Given the description of an element on the screen output the (x, y) to click on. 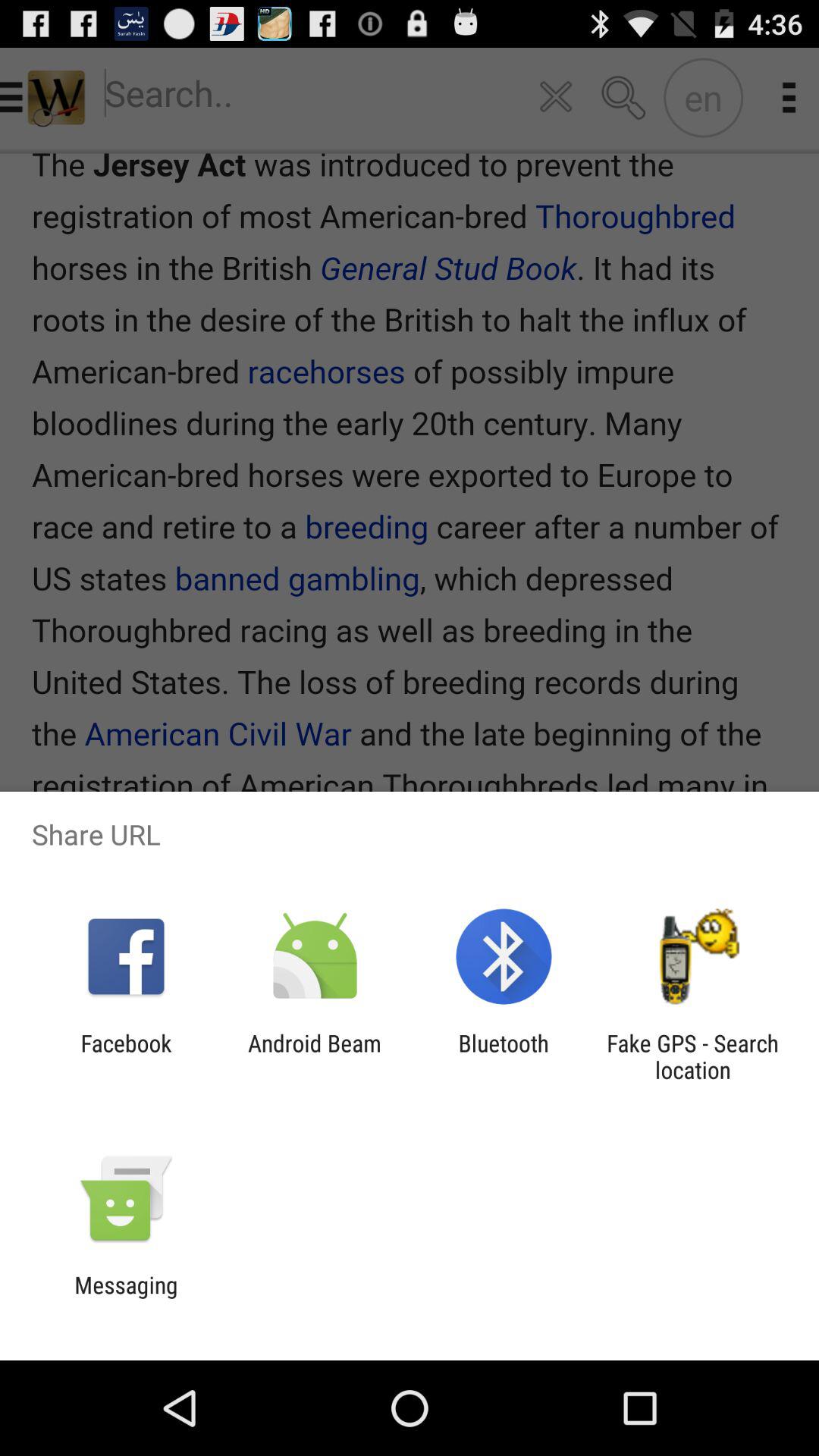
scroll to the android beam item (314, 1056)
